Given the description of an element on the screen output the (x, y) to click on. 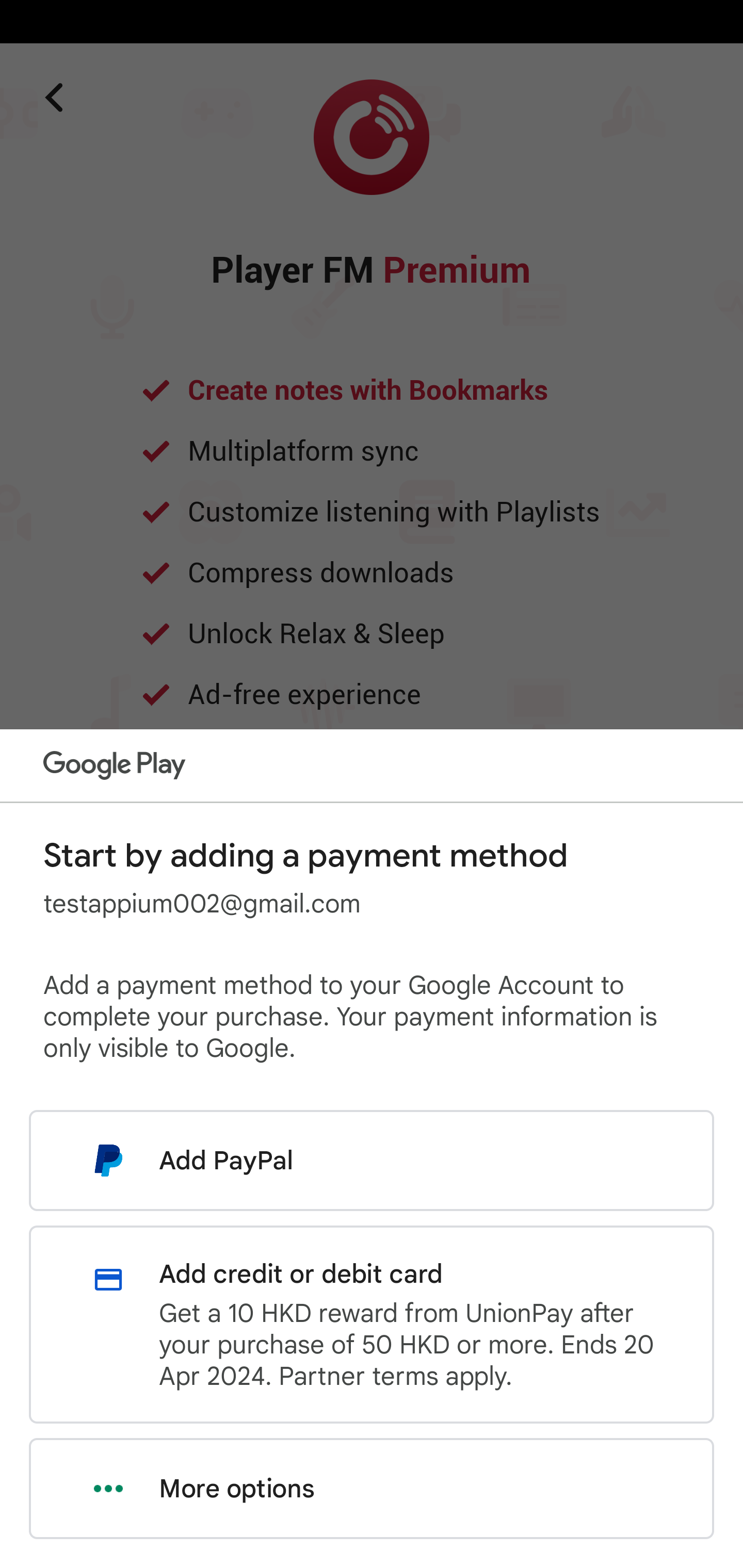
Add PayPal (371, 1160)
More options (371, 1488)
